Given the description of an element on the screen output the (x, y) to click on. 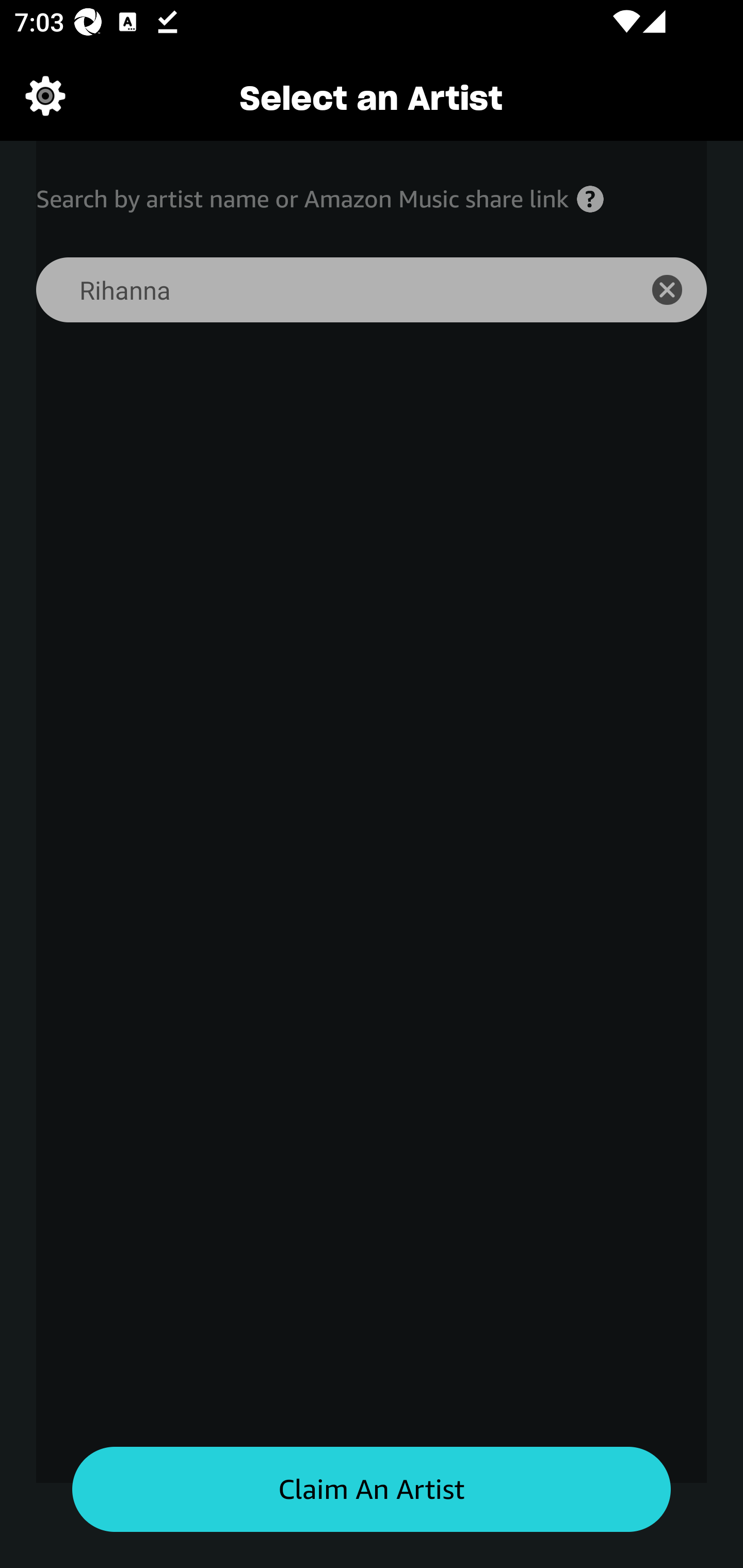
Help  icon (589, 199)
Rihanna Search for an artist search bar (324, 290)
 icon (677, 290)
Claim an artist button Claim An Artist (371, 1489)
